Given the description of an element on the screen output the (x, y) to click on. 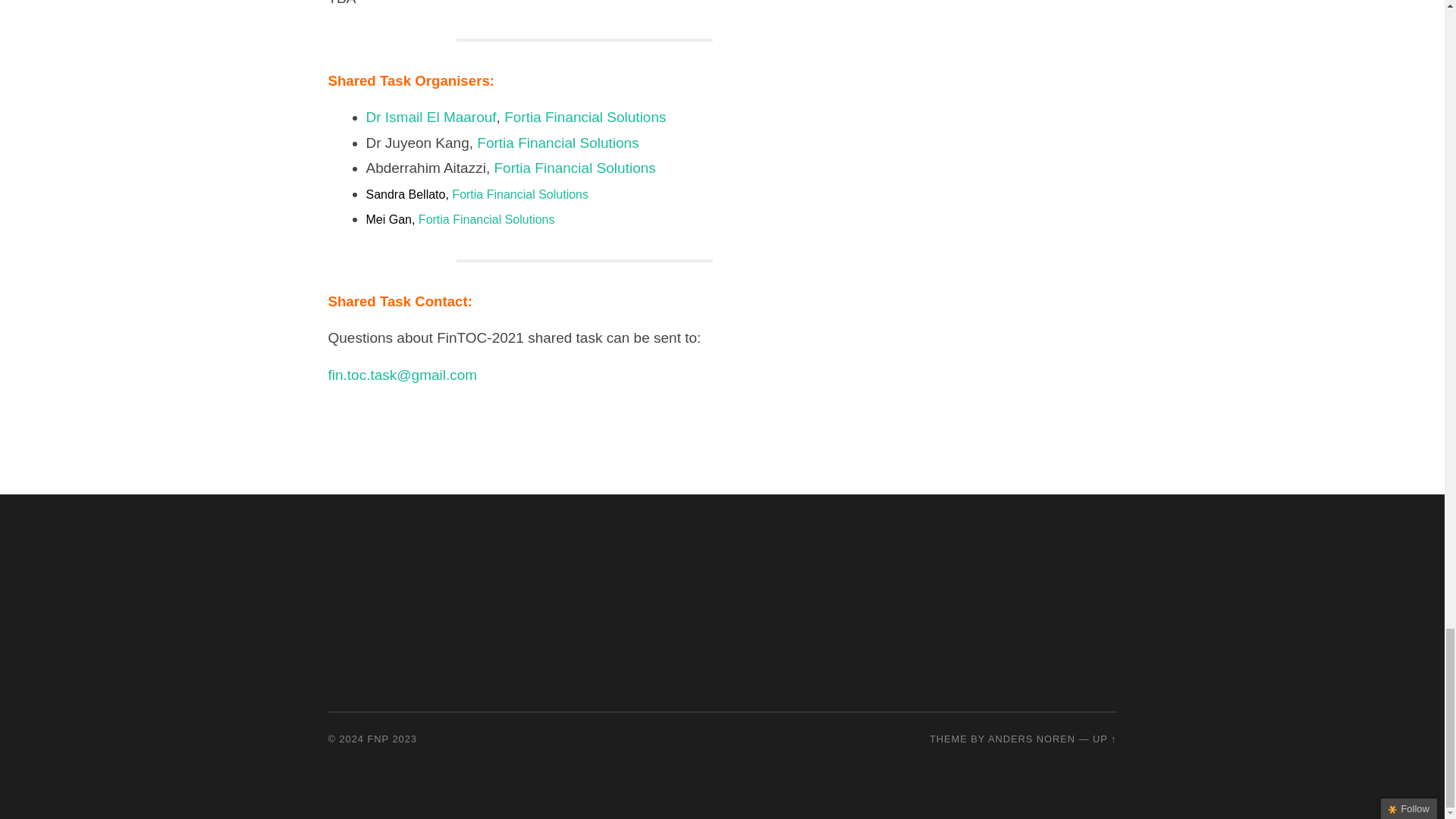
To the top (1104, 738)
